Given the description of an element on the screen output the (x, y) to click on. 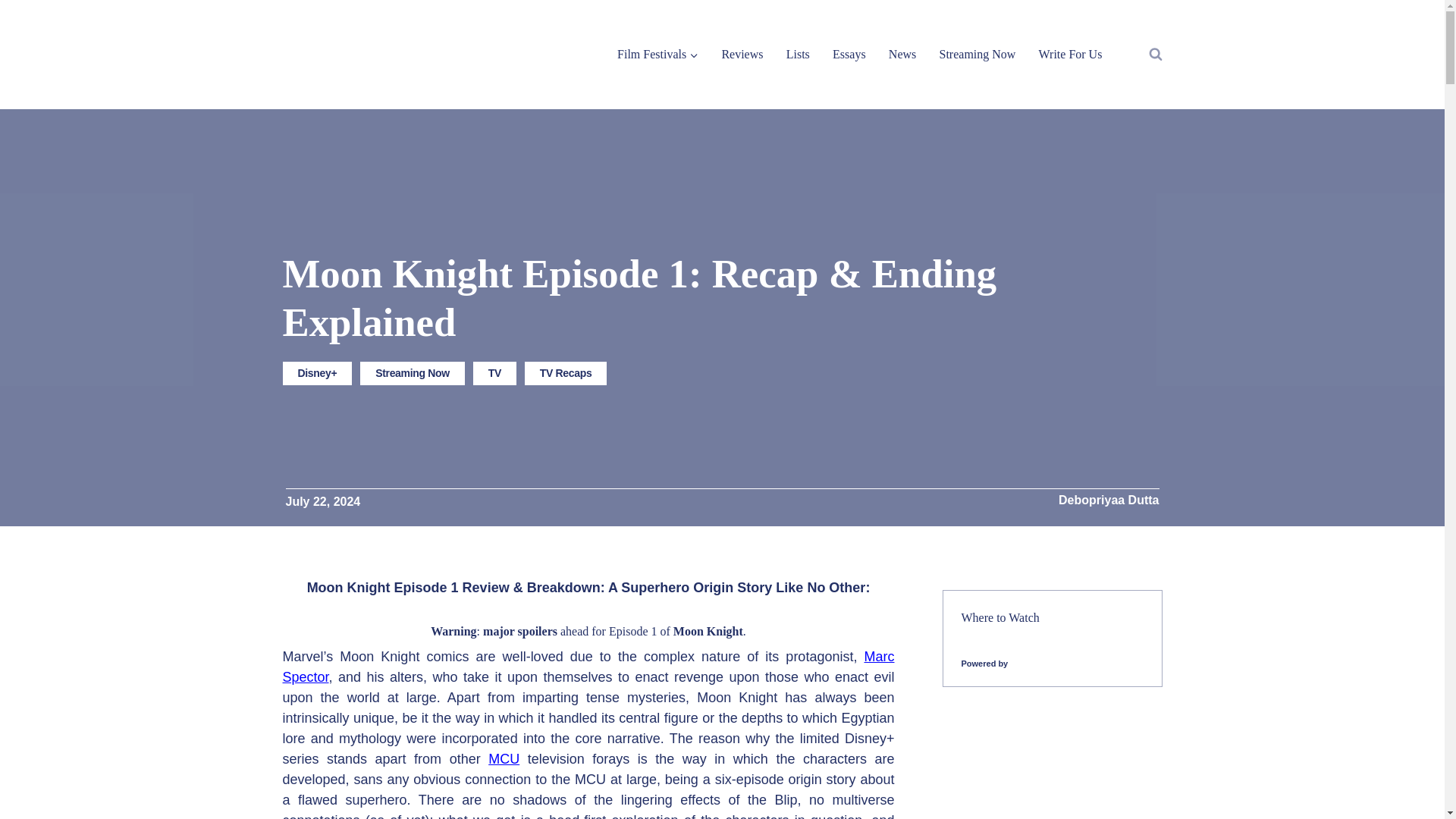
Reviews (742, 53)
News (902, 53)
TV Recaps (565, 372)
Film Festivals (657, 53)
Lists (797, 53)
TV (494, 372)
MCU (503, 758)
Debopriyaa Dutta (1108, 499)
Essays (849, 53)
Streaming Now (411, 372)
